Given the description of an element on the screen output the (x, y) to click on. 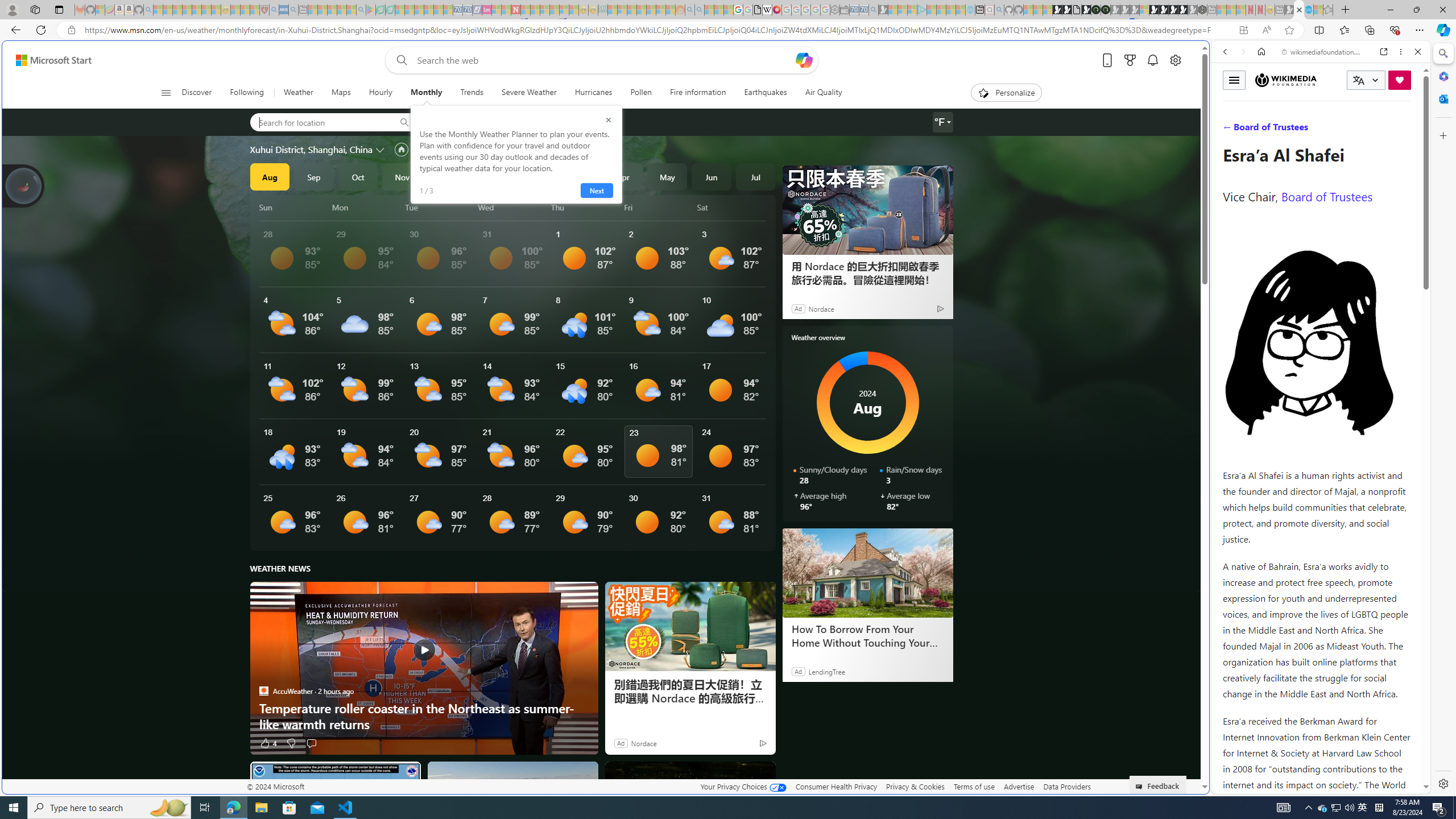
Xuhui District, Shanghai, China (310, 149)
Jun (710, 176)
Data Providers (1066, 785)
Air Quality (824, 92)
